Given the description of an element on the screen output the (x, y) to click on. 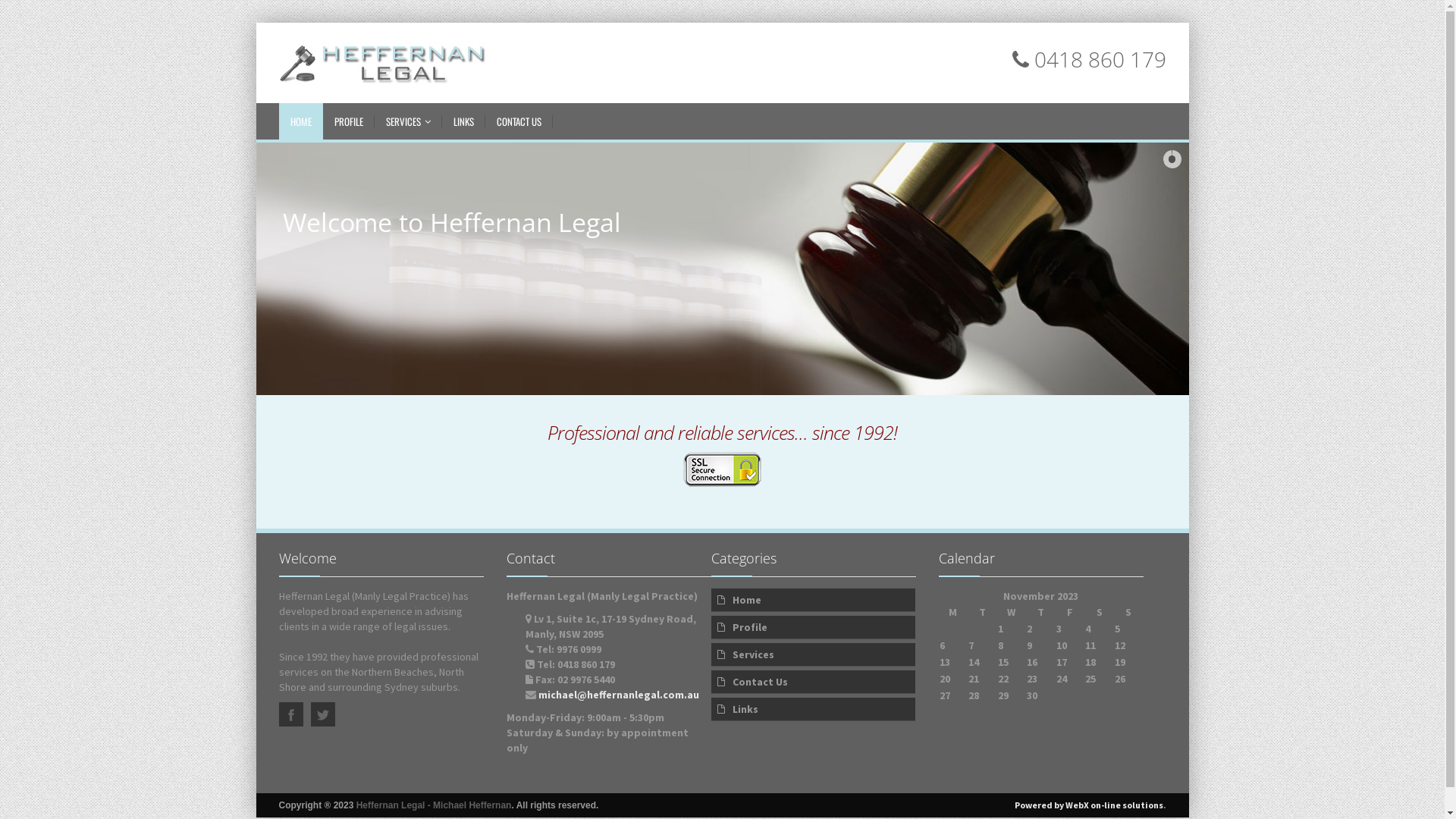
PROFILE Element type: text (348, 121)
HOME Element type: text (301, 121)
Home Element type: text (813, 599)
Powered by WebX on-line solutions Element type: text (1088, 804)
Profile Element type: text (813, 627)
Services Element type: text (813, 654)
Contact Us Element type: text (813, 681)
manlylegalpractice.com.au Element type: hover (391, 62)
Heffernan Legal - Michael Heffernan Element type: text (433, 805)
michael@heffernanlegal.com.au Element type: text (618, 694)
Links Element type: text (813, 709)
SERVICES Element type: text (408, 121)
LINKS Element type: text (462, 121)
CONTACT US Element type: text (518, 121)
